Given the description of an element on the screen output the (x, y) to click on. 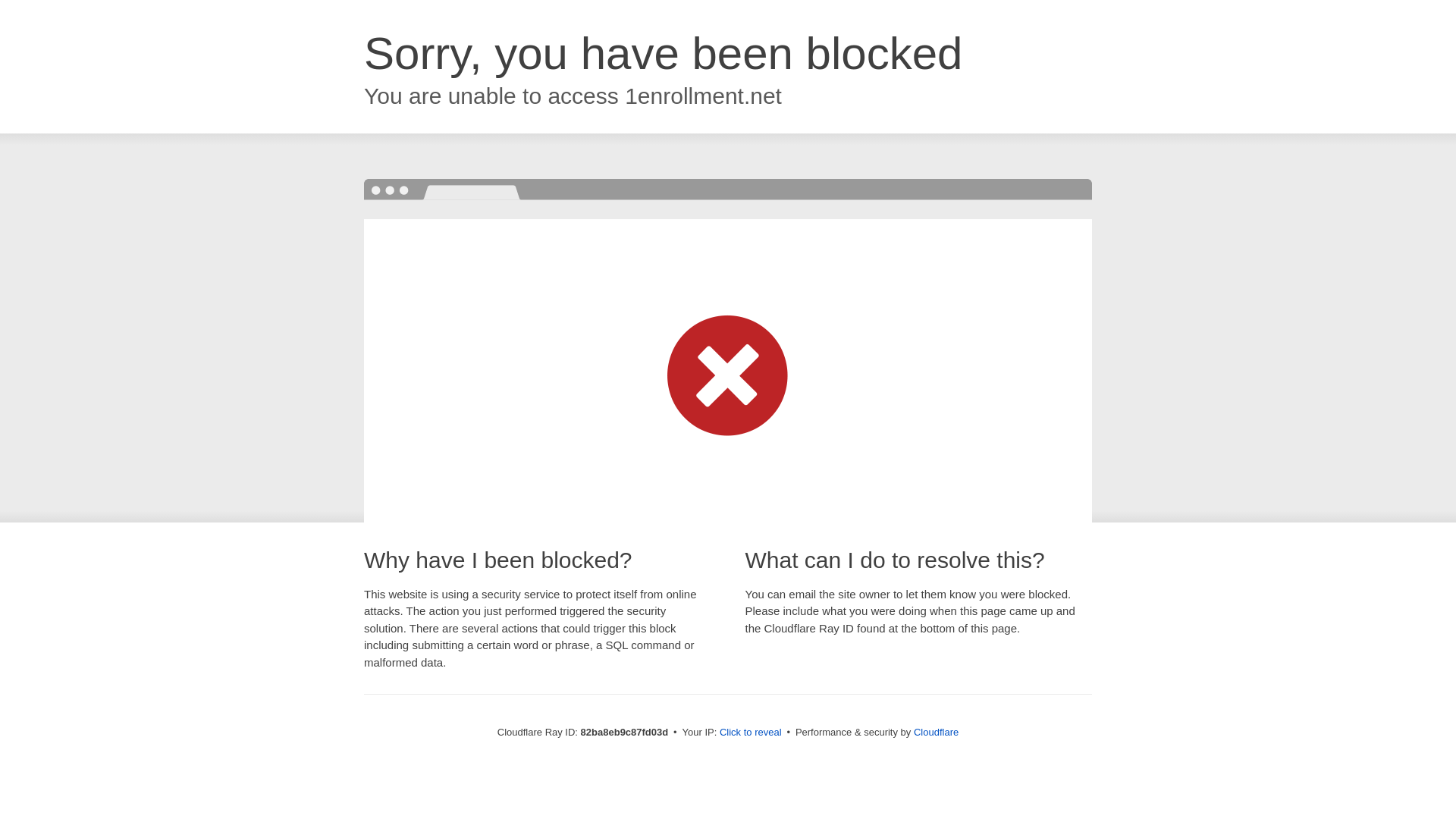
Cloudflare Element type: text (935, 731)
Click to reveal Element type: text (750, 732)
